Given the description of an element on the screen output the (x, y) to click on. 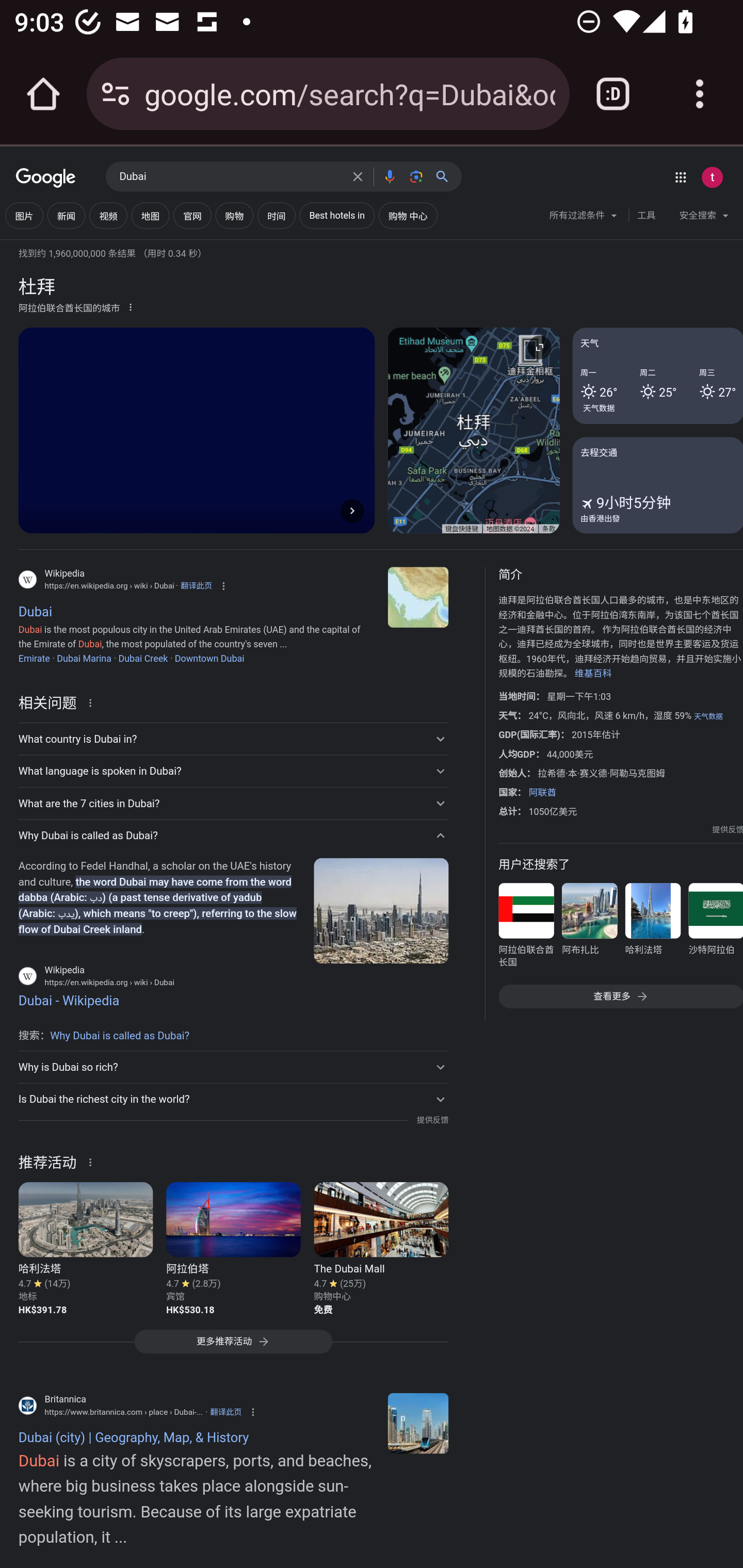
Open the home page (43, 93)
Connection is secure (115, 93)
Switch or close tabs (612, 93)
Customize and control Google Chrome (699, 93)
清除 (357, 176)
按语音搜索 (389, 176)
按图搜索 (415, 176)
搜索 (446, 176)
Google 应用 (680, 176)
Google 账号： test appium (testappium002@gmail.com) (712, 176)
Google (45, 178)
Dubai (229, 177)
图片 (24, 215)
新闻 (65, 215)
视频 (107, 215)
地图 (149, 215)
添加“官网” 官网 (191, 215)
购物 (234, 215)
添加“时间” 时间 (276, 215)
添加“Best hotels in” Best hotels in (337, 215)
添加“购物 中心” 购物 中心 (407, 215)
所有过滤条件 (583, 217)
工具 (646, 215)
安全搜索 (703, 217)
更多选项 (130, 306)
天气 周一 高温 26 度 周二 高温 25 度 周三 高温 27 度 (657, 375)
展开地图 (539, 346)
天气数据 (599, 407)
去程交通 9小时5分钟 乘坐飞机 由香港出發 (657, 484)
下一张图片 (352, 510)
Dubai (417, 597)
翻译此页 (195, 585)
Emirate (33, 658)
Dubai Marina (84, 658)
Dubai Creek (142, 658)
Downtown Dubai (208, 658)
维基百科 (593, 672)
关于这条结果的详细信息 (93, 701)
天气数据 (708, 716)
What country is Dubai in? (232, 738)
What language is spoken in Dubai? (232, 770)
阿联酋 (541, 792)
What are the 7 cities in Dubai? (232, 803)
Why Dubai is called as Dubai? (232, 835)
提供反馈 (727, 829)
阿拉伯联合酋长国 (526, 927)
阿布扎比 (588, 927)
哈利法塔 (652, 927)
沙特阿拉伯 (715, 927)
查看更多 查看更多 查看更多 (620, 996)
Why Dubai is called as Dubai? (119, 1035)
Why is Dubai so rich? (232, 1066)
Is Dubai the richest city in the world? (232, 1099)
提供反馈 (432, 1119)
关于这条结果的详细信息 (93, 1161)
更多推荐活动 (232, 1346)
Dubai-United-Arab-Emirates (417, 1423)
翻译此页 (225, 1411)
